Given the description of an element on the screen output the (x, y) to click on. 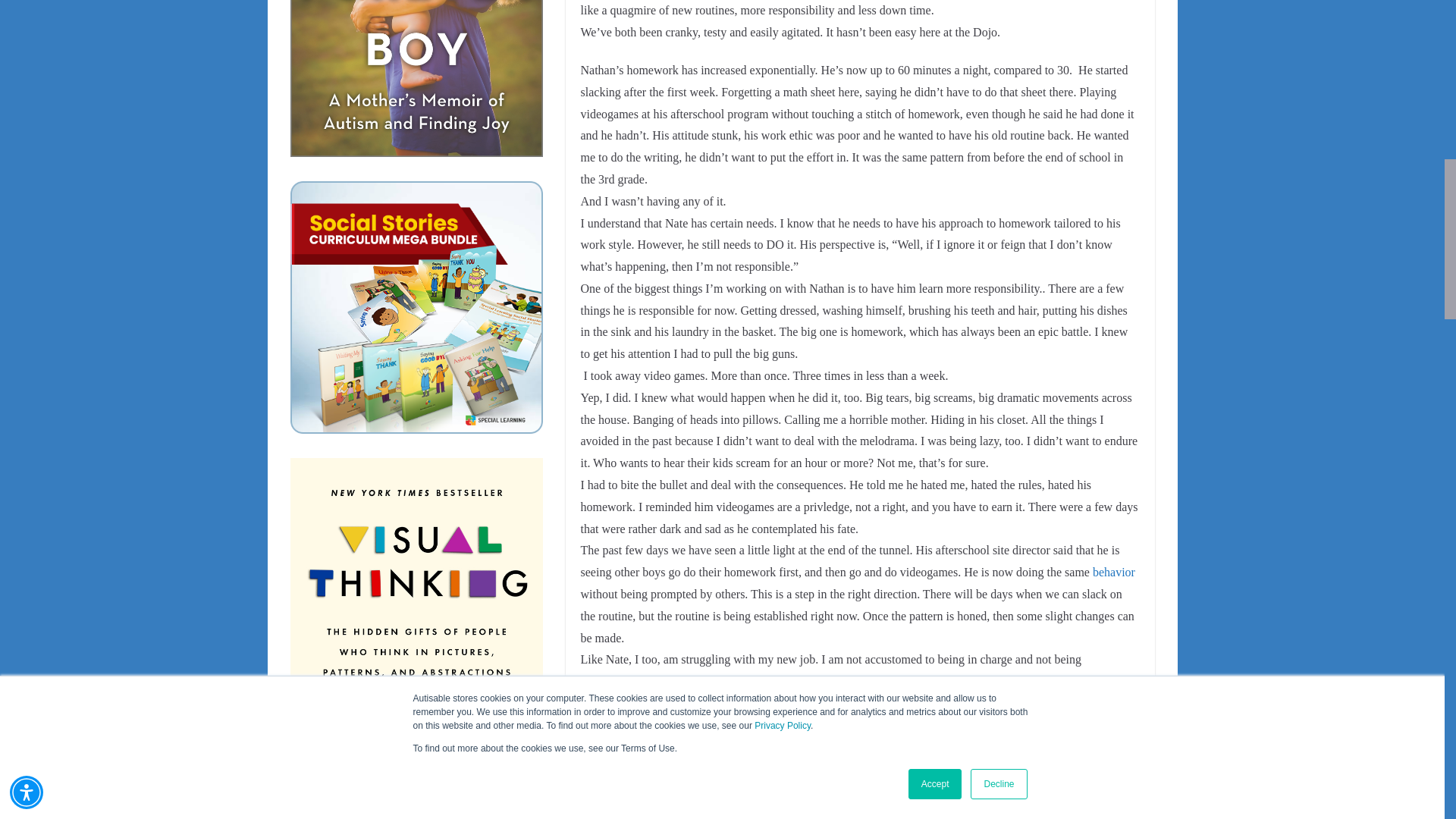
behavior (1114, 571)
